Given the description of an element on the screen output the (x, y) to click on. 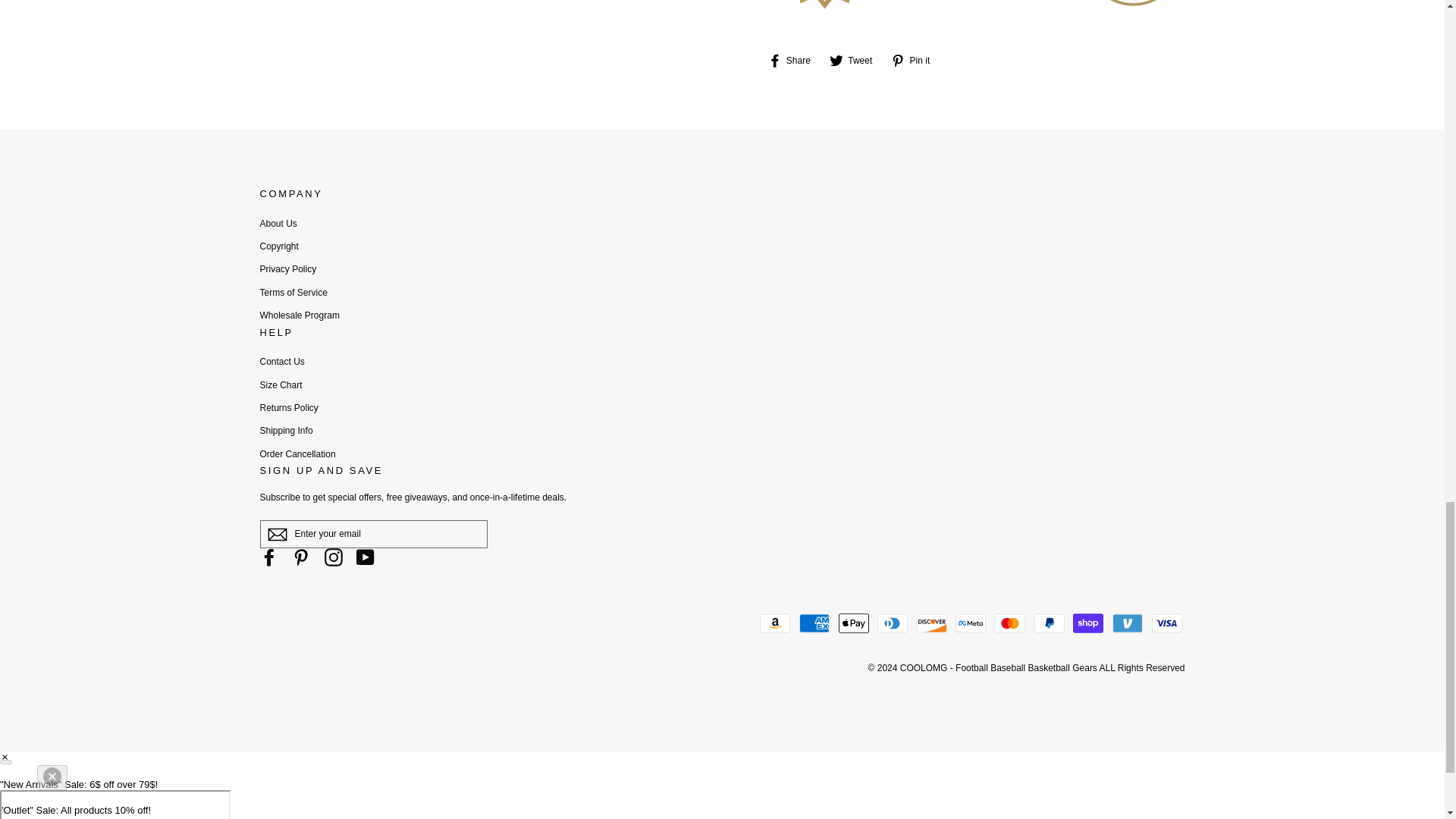
Amazon (775, 623)
COOLOMG - Football Baseball Basketball Gears on Facebook (268, 556)
American Express (814, 623)
Tweet on Twitter (856, 60)
COOLOMG - Football Baseball Basketball Gears on YouTube (365, 556)
COOLOMG - Football Baseball Basketball Gears on Instagram (333, 556)
COOLOMG - Football Baseball Basketball Gears on Pinterest (301, 556)
Share on Facebook (794, 60)
Pin on Pinterest (915, 60)
